Given the description of an element on the screen output the (x, y) to click on. 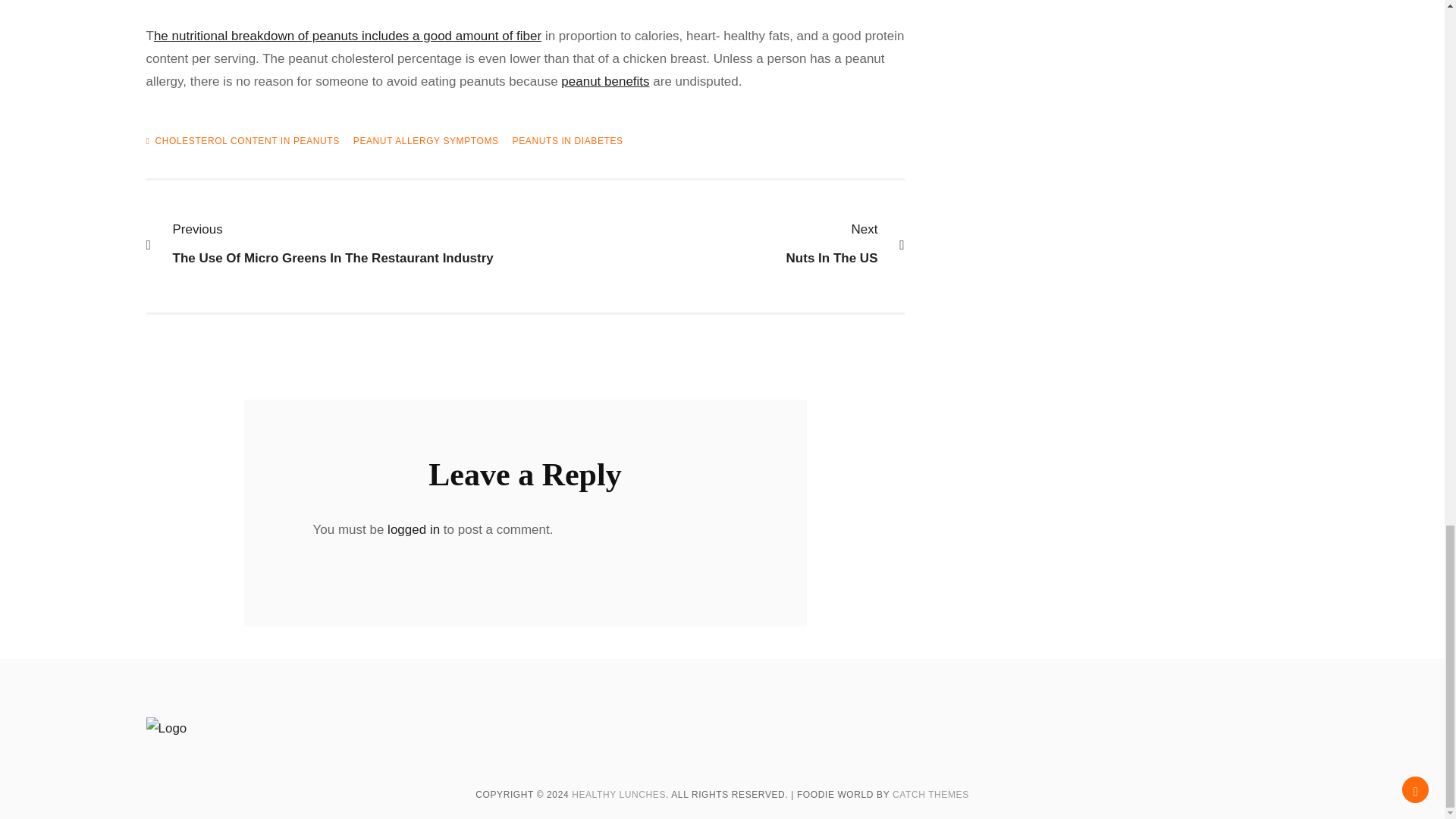
peanut benefits (604, 81)
PEANUT ALLERGY SYMPTOMS (426, 140)
CATCH THEMES (930, 794)
PEANUTS IN DIABETES (567, 140)
Browse more (706, 244)
Real peanut butter (347, 35)
logged in (604, 81)
HEALTHY LUNCHES (344, 244)
CHOLESTEROL CONTENT IN PEANUTS (413, 529)
